Given the description of an element on the screen output the (x, y) to click on. 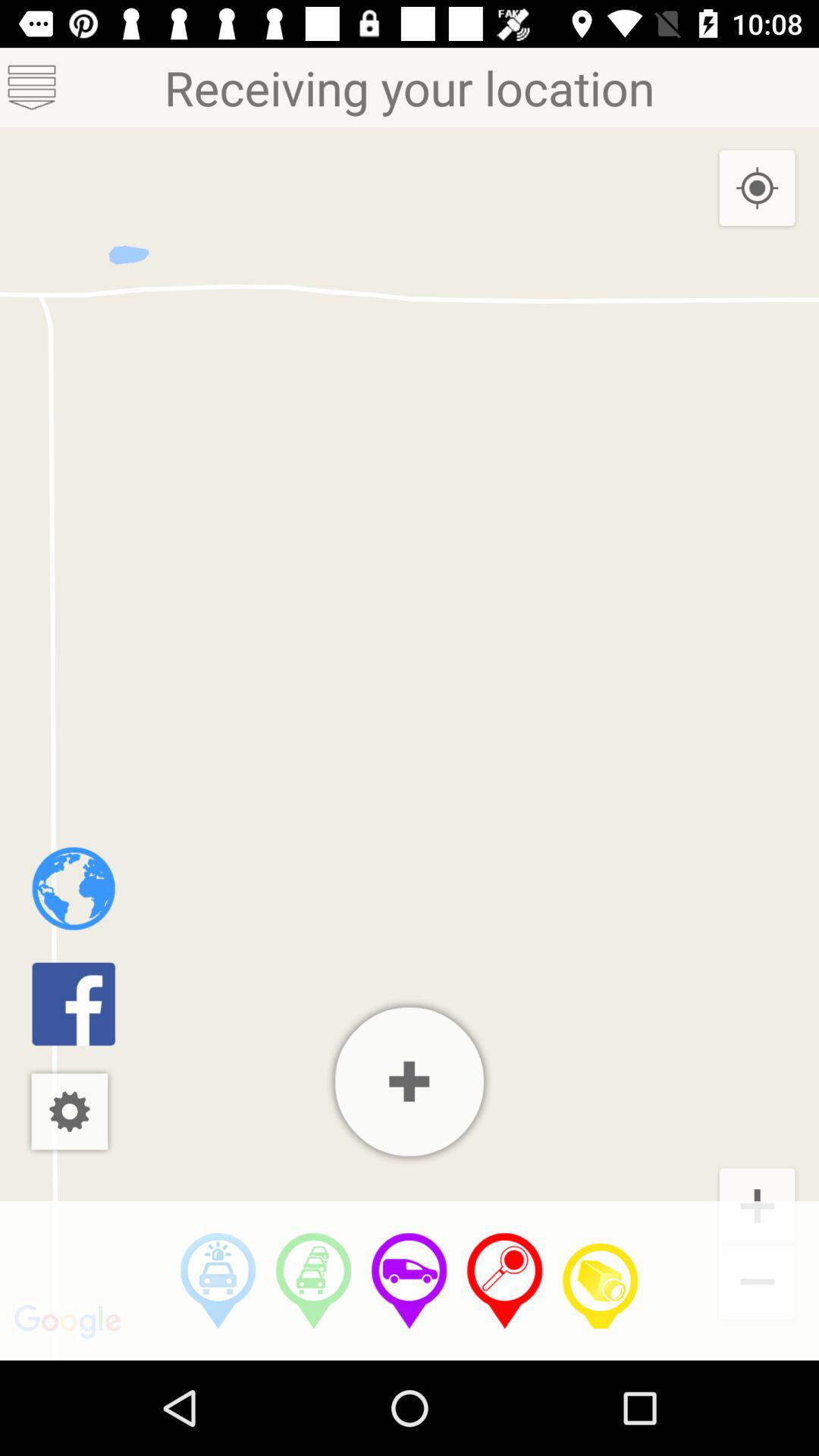
places pin on specified location (504, 1280)
